Given the description of an element on the screen output the (x, y) to click on. 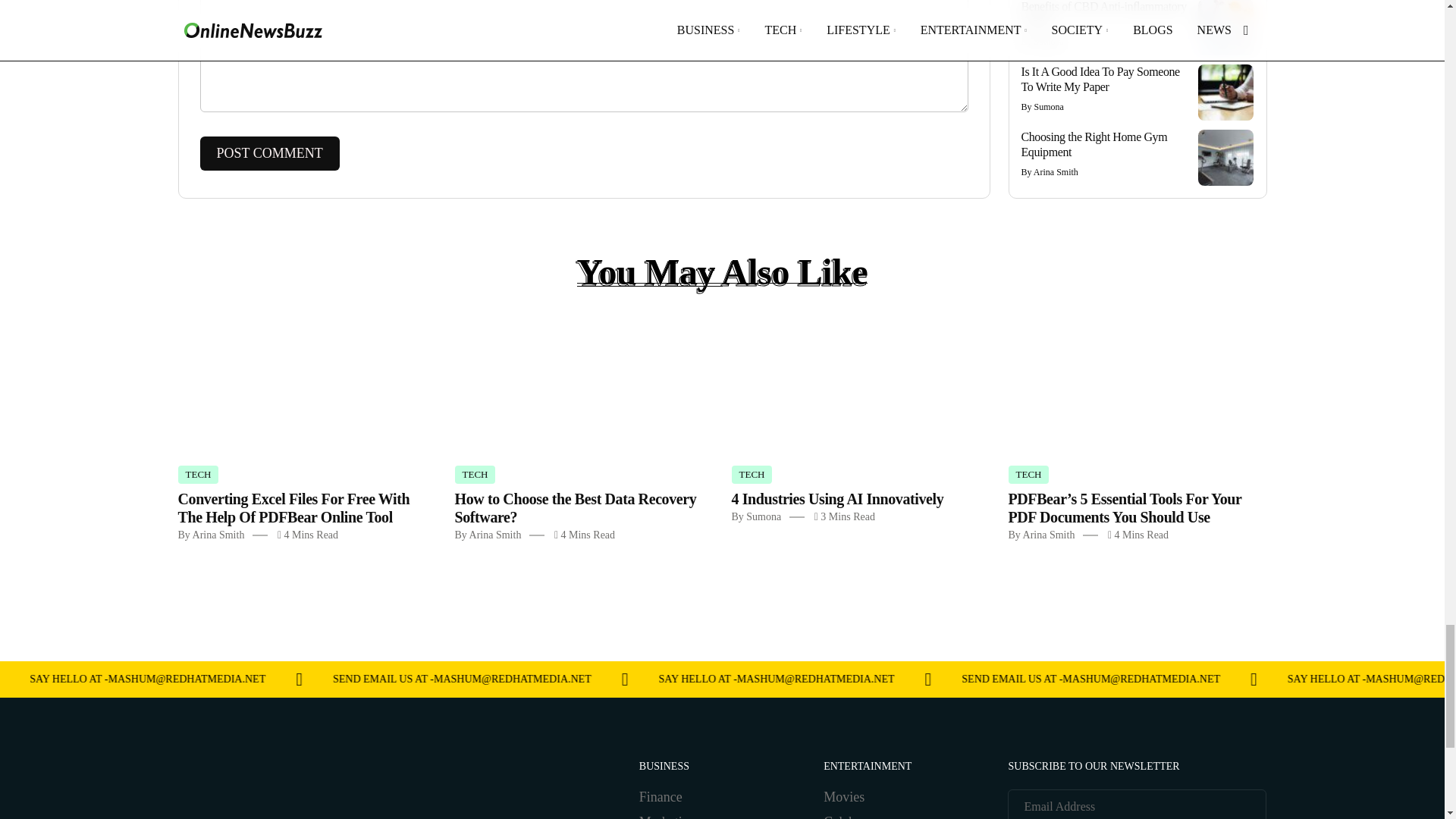
Tech (475, 475)
Tech (197, 475)
Tech (1029, 475)
Post Comment (269, 153)
Tech (750, 475)
